Given the description of an element on the screen output the (x, y) to click on. 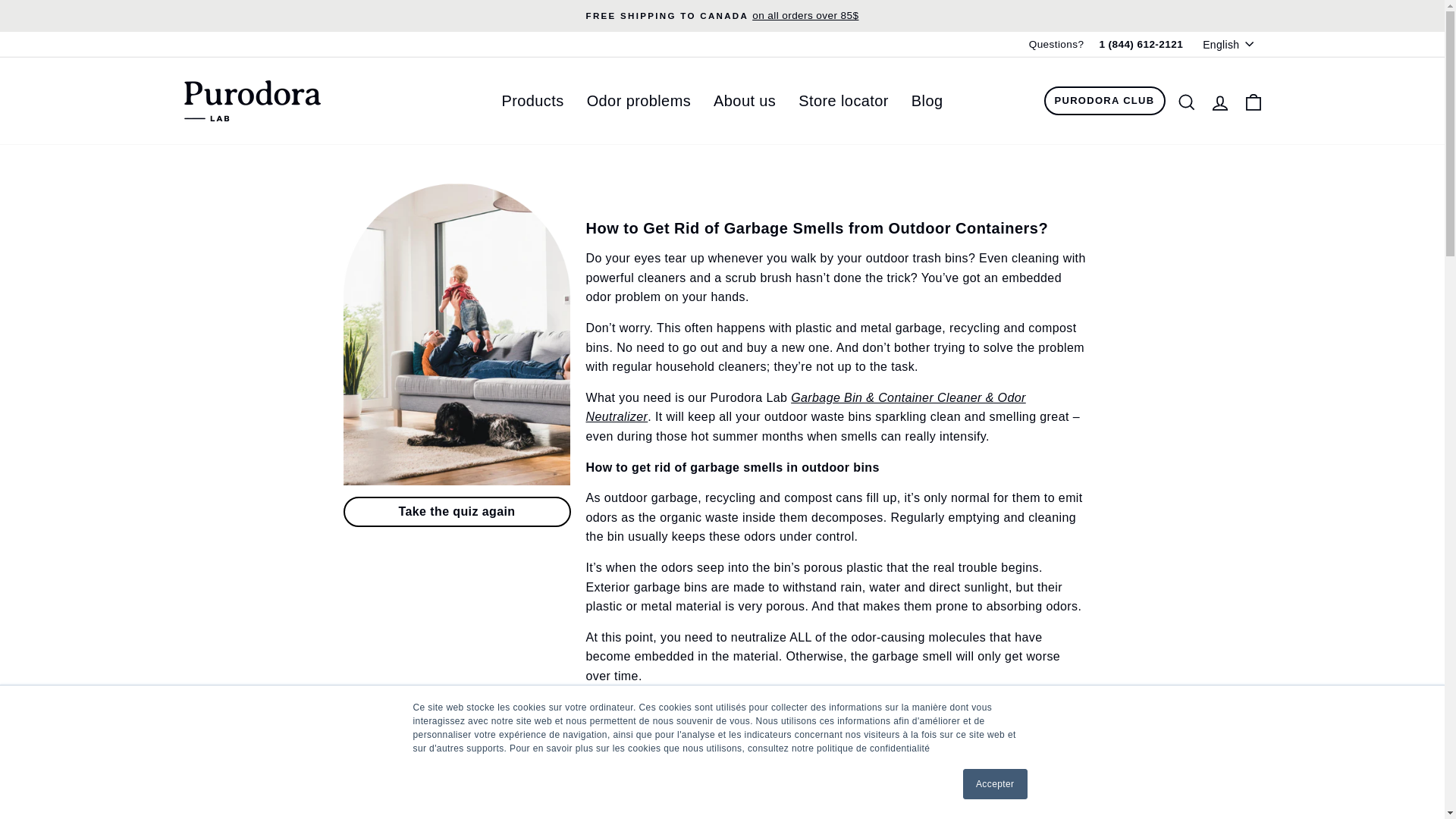
English (1229, 43)
Questions? (1057, 44)
Accepter (994, 784)
Products (532, 100)
About us (744, 100)
Odor problems (638, 100)
